Given the description of an element on the screen output the (x, y) to click on. 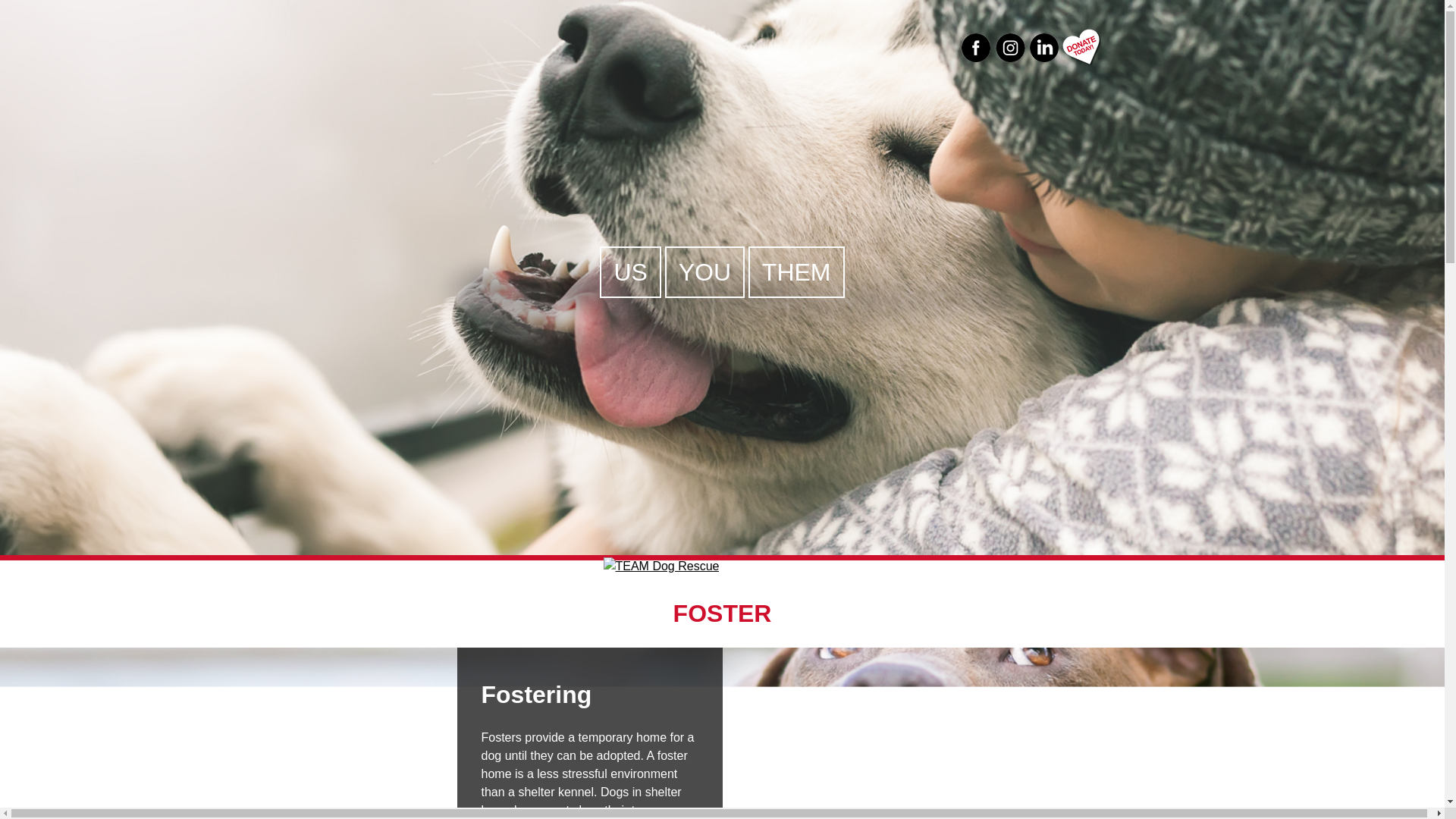
YOU (704, 272)
TEAM Dog Rescue (655, 595)
THEM (796, 272)
US (630, 272)
